Given the description of an element on the screen output the (x, y) to click on. 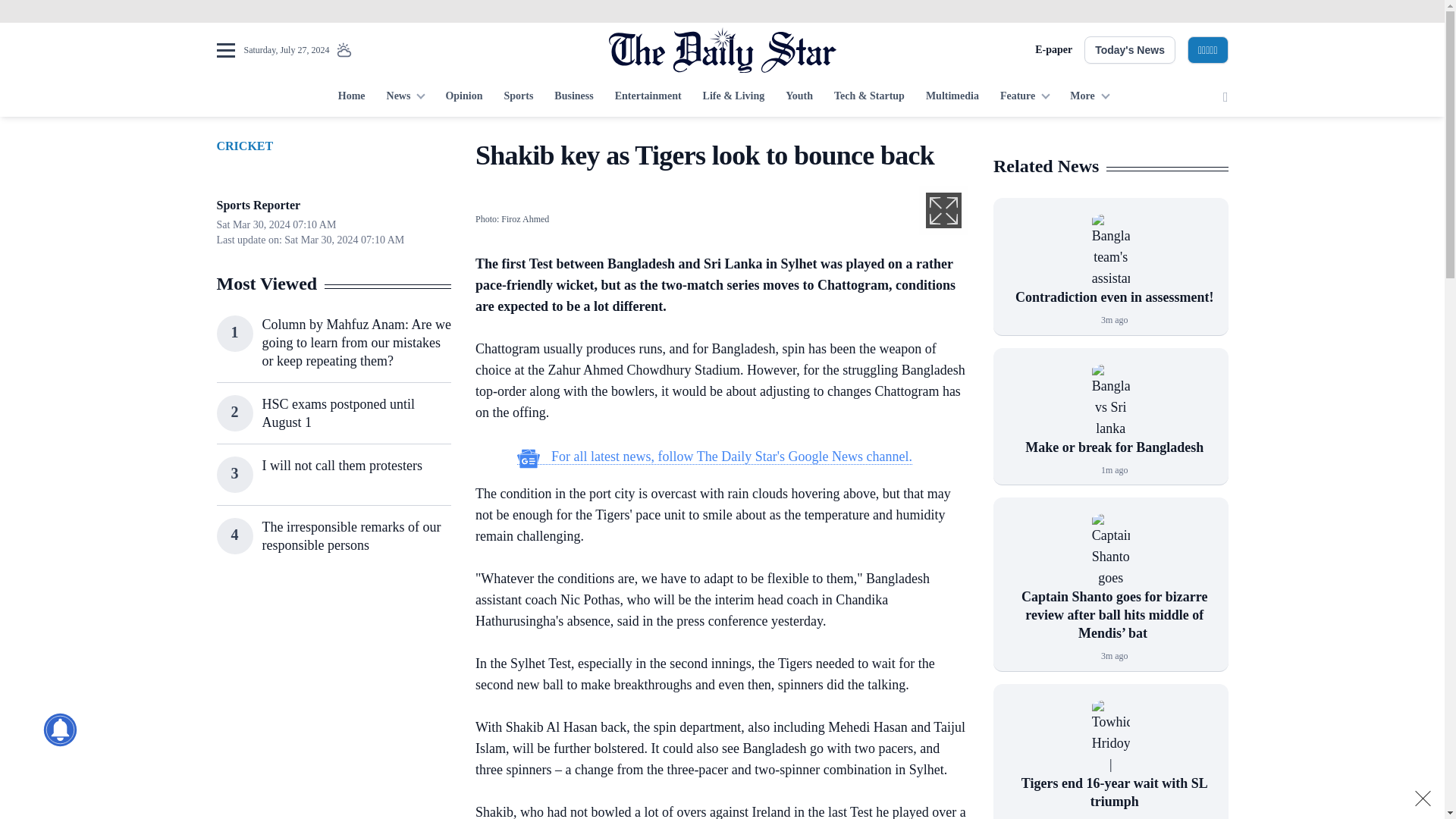
Bangladesh vs Sri lanka T20 world cup 2024 match (1110, 400)
Feature (1024, 96)
Youth (799, 96)
Multimedia (952, 96)
Contradiction even in assessment! (1110, 250)
Sports (518, 96)
News (405, 96)
Entertainment (647, 96)
Opinion (463, 96)
Business (573, 96)
E-paper (1053, 49)
Towhid Hridoy (1110, 736)
Today's News (1129, 49)
Home (351, 96)
